Given the description of an element on the screen output the (x, y) to click on. 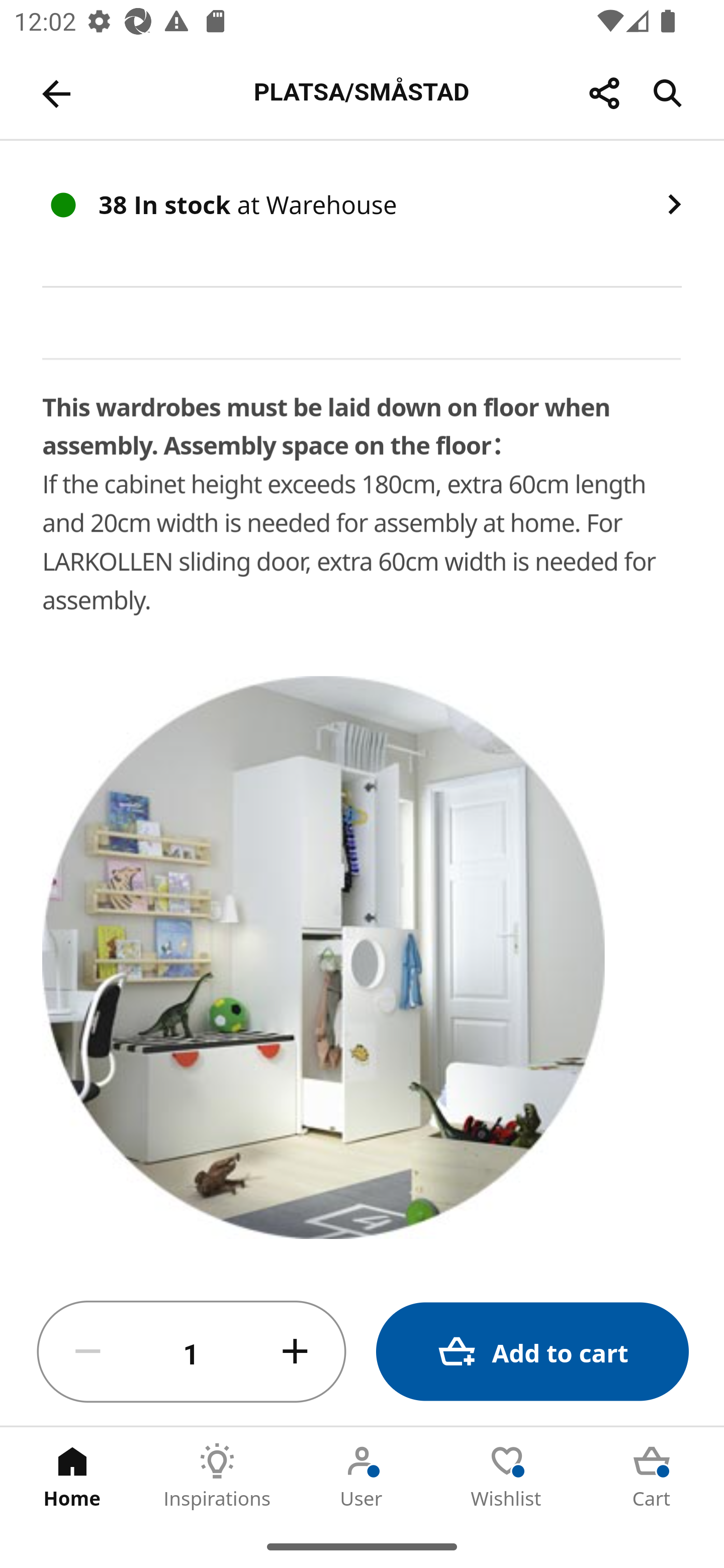
38 In stock at Warehouse (361, 213)
Add to cart (531, 1352)
1 (191, 1352)
Home
Tab 1 of 5 (72, 1476)
Inspirations
Tab 2 of 5 (216, 1476)
User
Tab 3 of 5 (361, 1476)
Wishlist
Tab 4 of 5 (506, 1476)
Cart
Tab 5 of 5 (651, 1476)
low-formaldehyde (253, 1557)
wood_based_storage_ITCS (112, 1557)
